Given the description of an element on the screen output the (x, y) to click on. 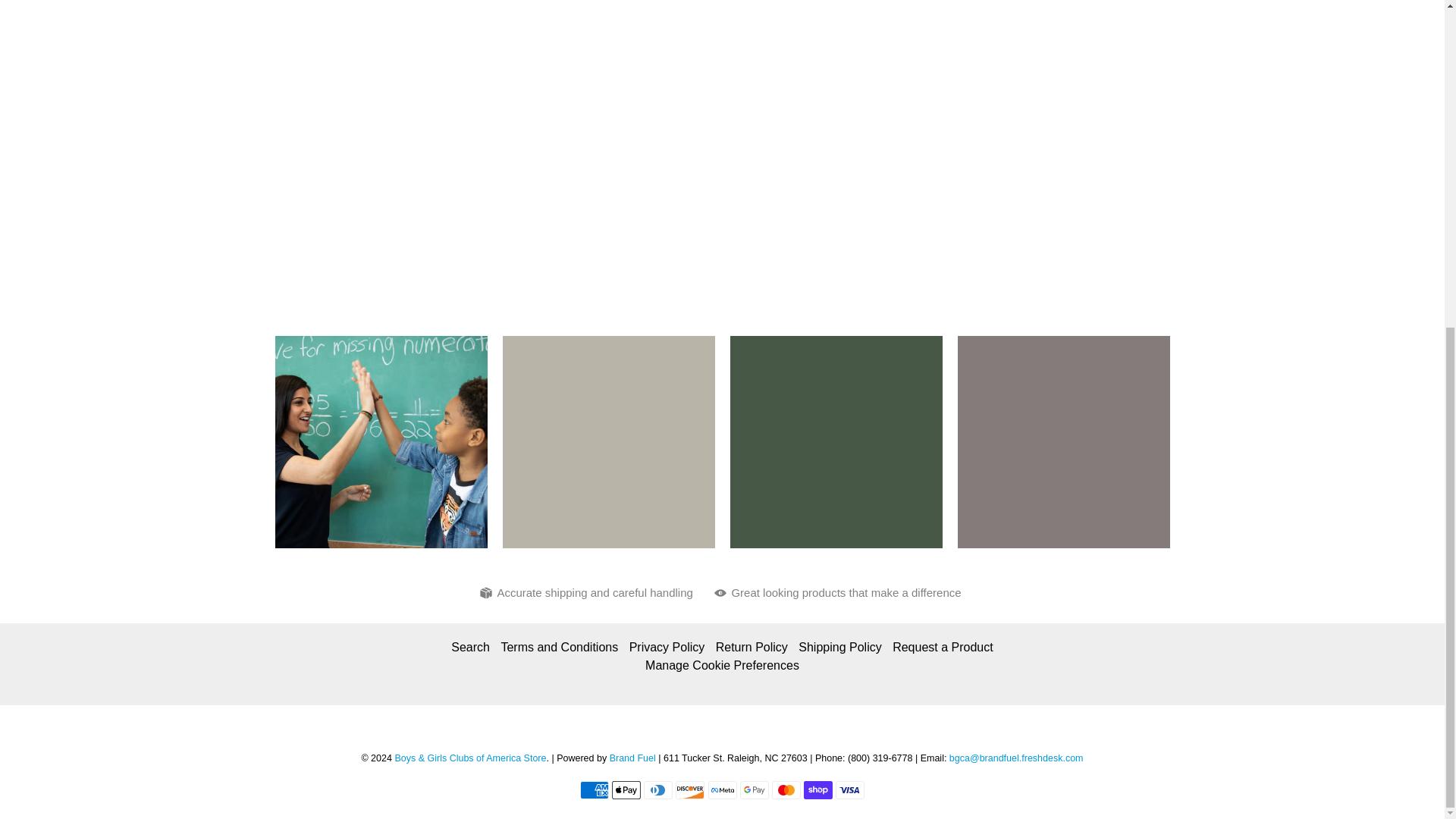
Diners Club (657, 790)
Discover (689, 790)
Apple Pay (625, 790)
Shop Pay (817, 790)
Meta Pay (721, 790)
Help widget launcher (1368, 241)
Visa (849, 790)
Mastercard (785, 790)
Google Pay (753, 790)
American Express (593, 790)
